Given the description of an element on the screen output the (x, y) to click on. 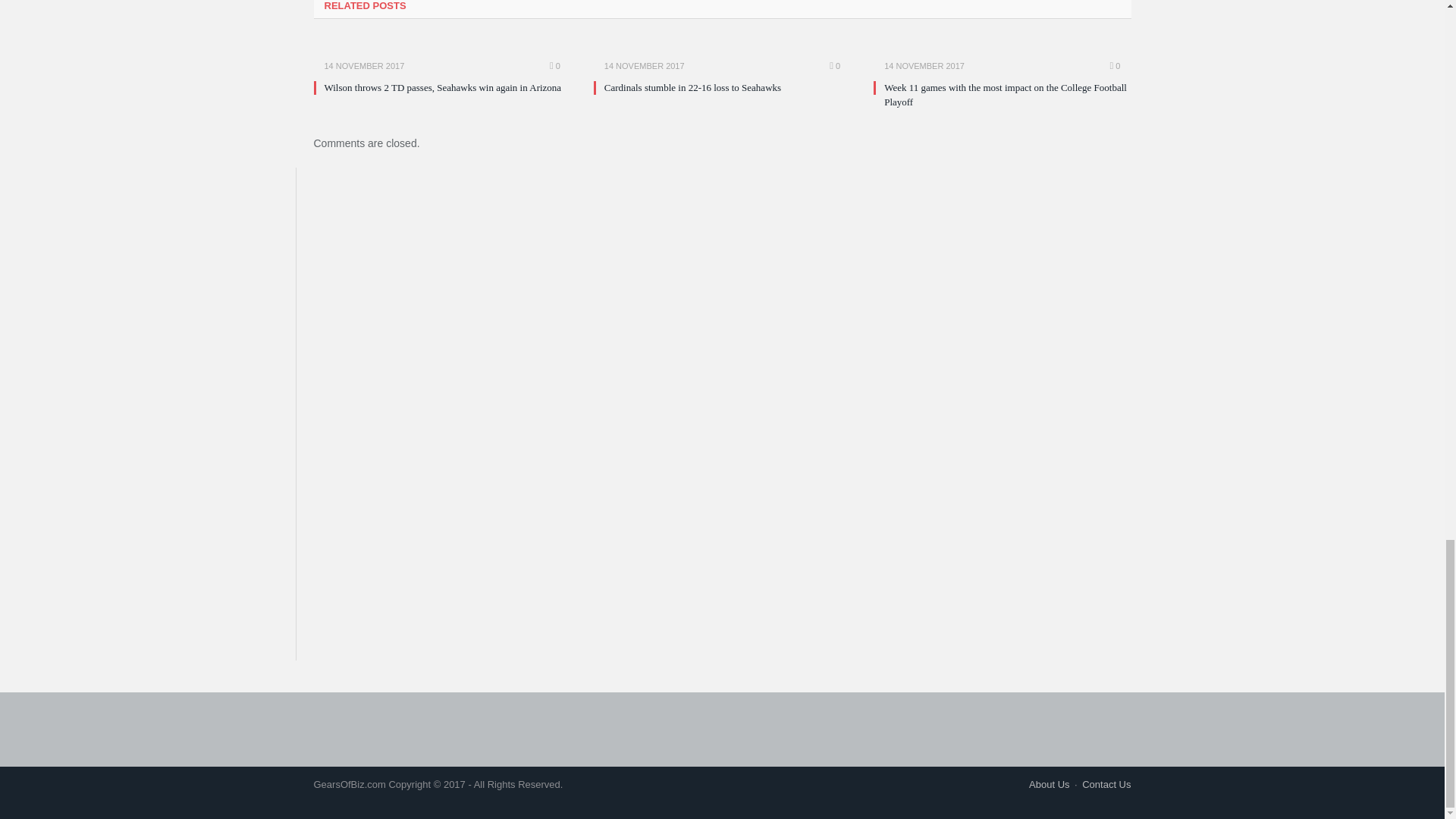
Wilson throws 2 TD passes, Seahawks win again in Arizona (443, 87)
0 (555, 65)
